Given the description of an element on the screen output the (x, y) to click on. 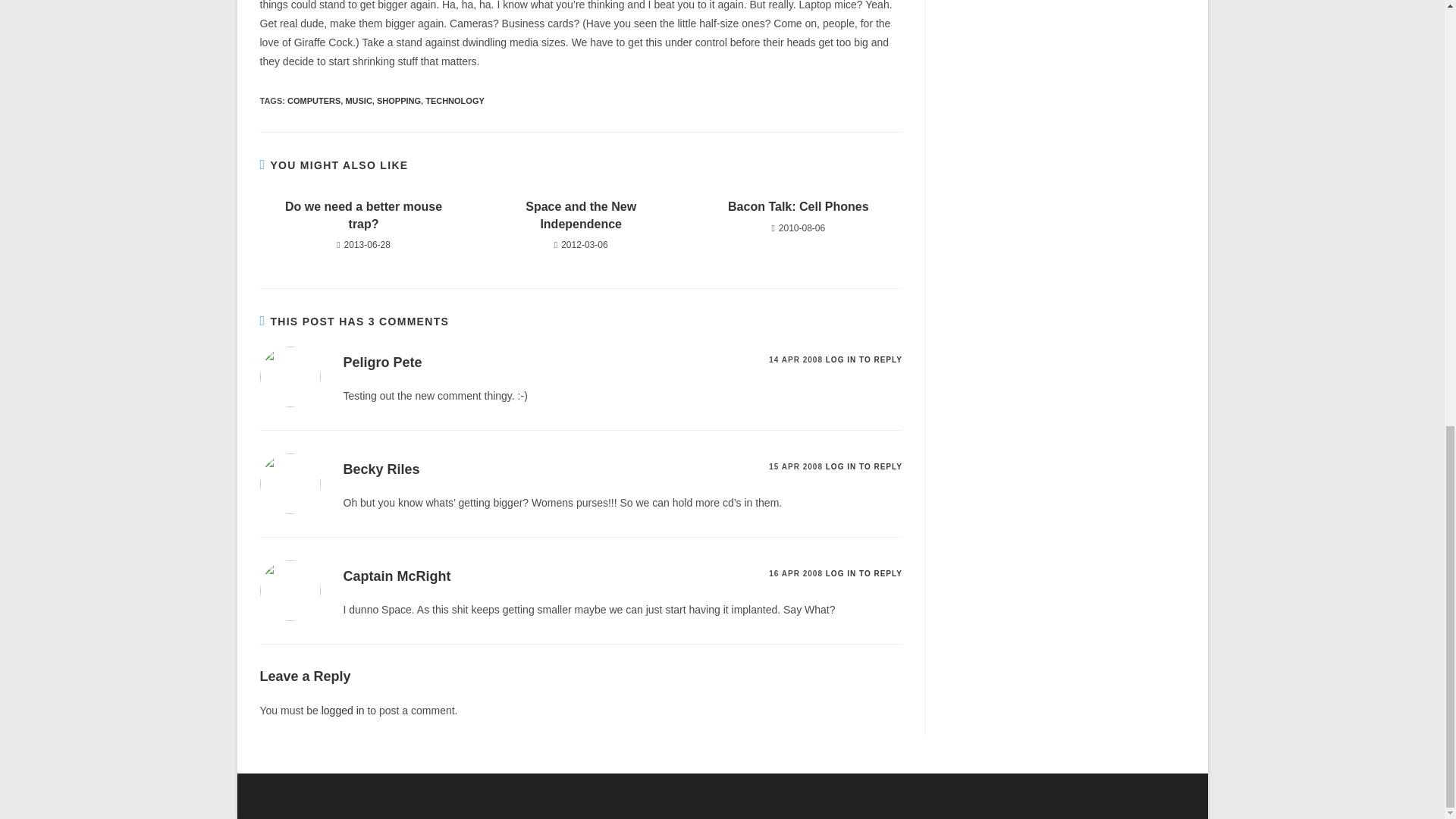
Captain McRight (395, 575)
COMPUTERS (313, 100)
Space and the New Independence (580, 215)
SHOPPING (398, 100)
TECHNOLOGY (454, 100)
LOG IN TO REPLY (863, 466)
LOG IN TO REPLY (863, 573)
Bacon Talk: Cell Phones (798, 207)
MUSIC (358, 100)
Becky Riles (380, 468)
